Given the description of an element on the screen output the (x, y) to click on. 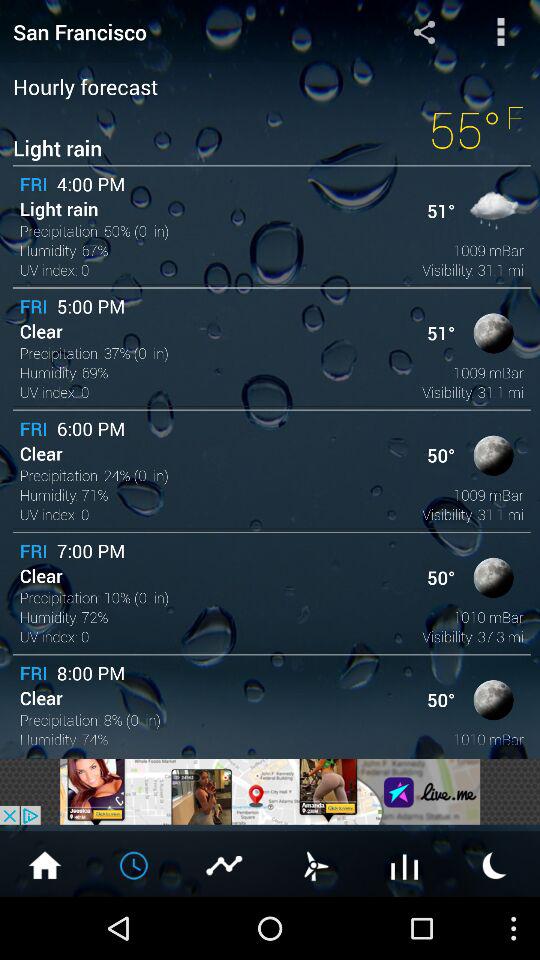
swipe until san francisco item (179, 31)
